Given the description of an element on the screen output the (x, y) to click on. 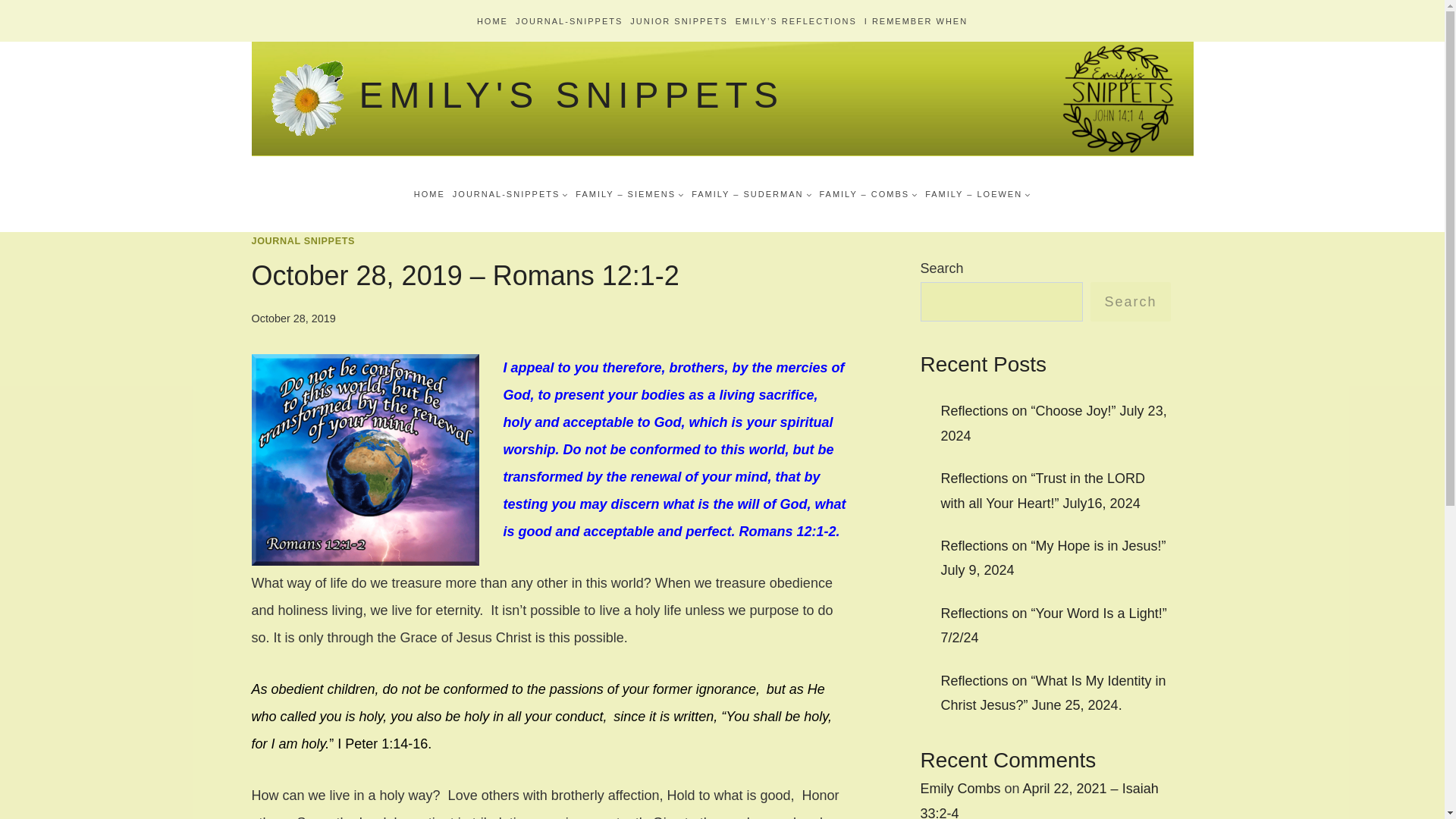
HOME (492, 20)
JOURNAL-SNIPPETS (569, 20)
JUNIOR SNIPPETS (678, 20)
JOURNAL-SNIPPETS (510, 193)
I REMEMBER WHEN (915, 20)
HOME (429, 193)
EMILY'S SNIPPETS (526, 98)
